Given the description of an element on the screen output the (x, y) to click on. 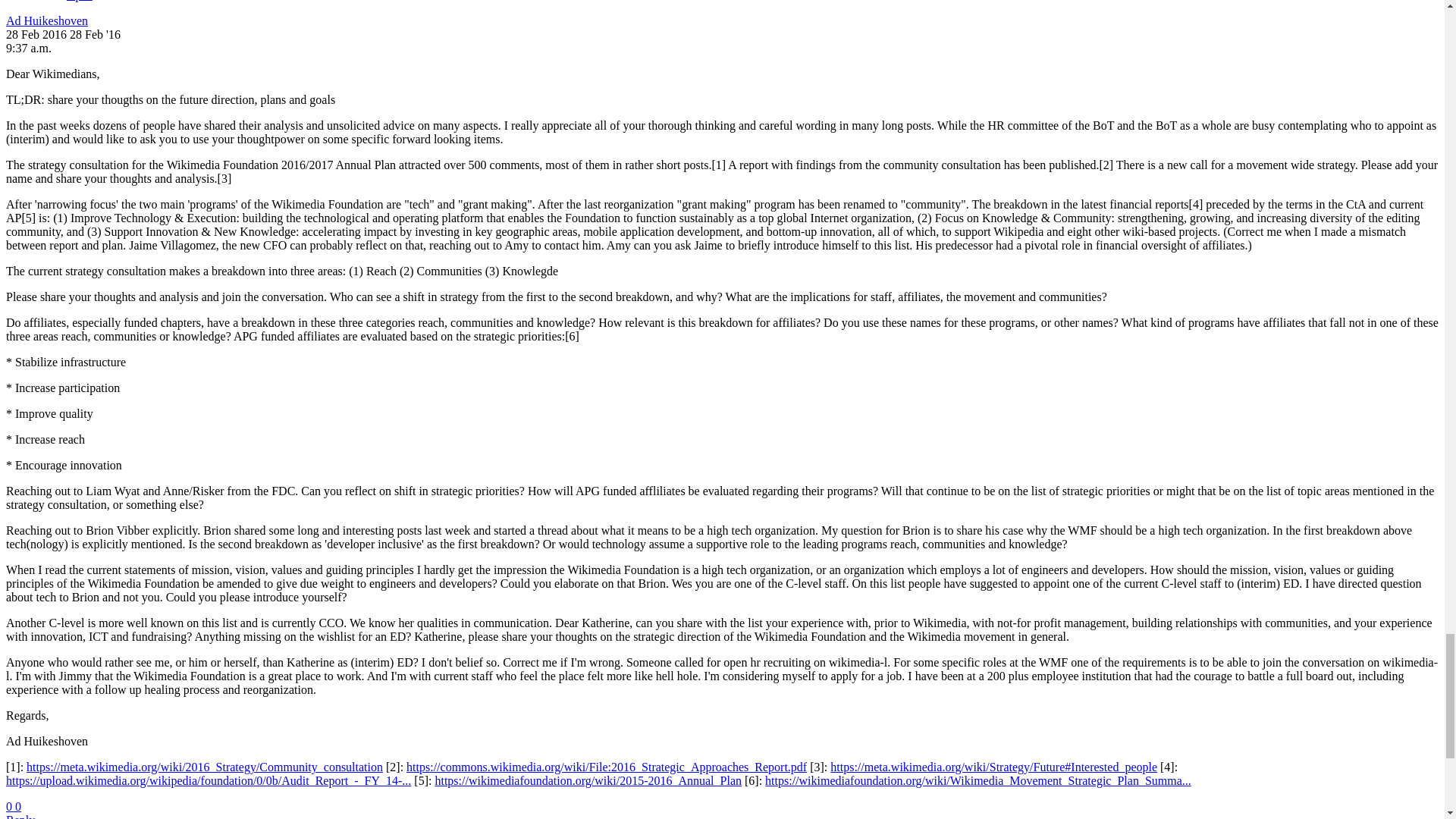
Sender's time: Feb. 28, 2016, 4:37 p.m. (27, 47)
You must be logged-in to vote. (9, 806)
See the profile for Ad Huikeshoven (46, 20)
You must be logged-in to vote. (17, 806)
Sign in to reply online (19, 816)
